Given the description of an element on the screen output the (x, y) to click on. 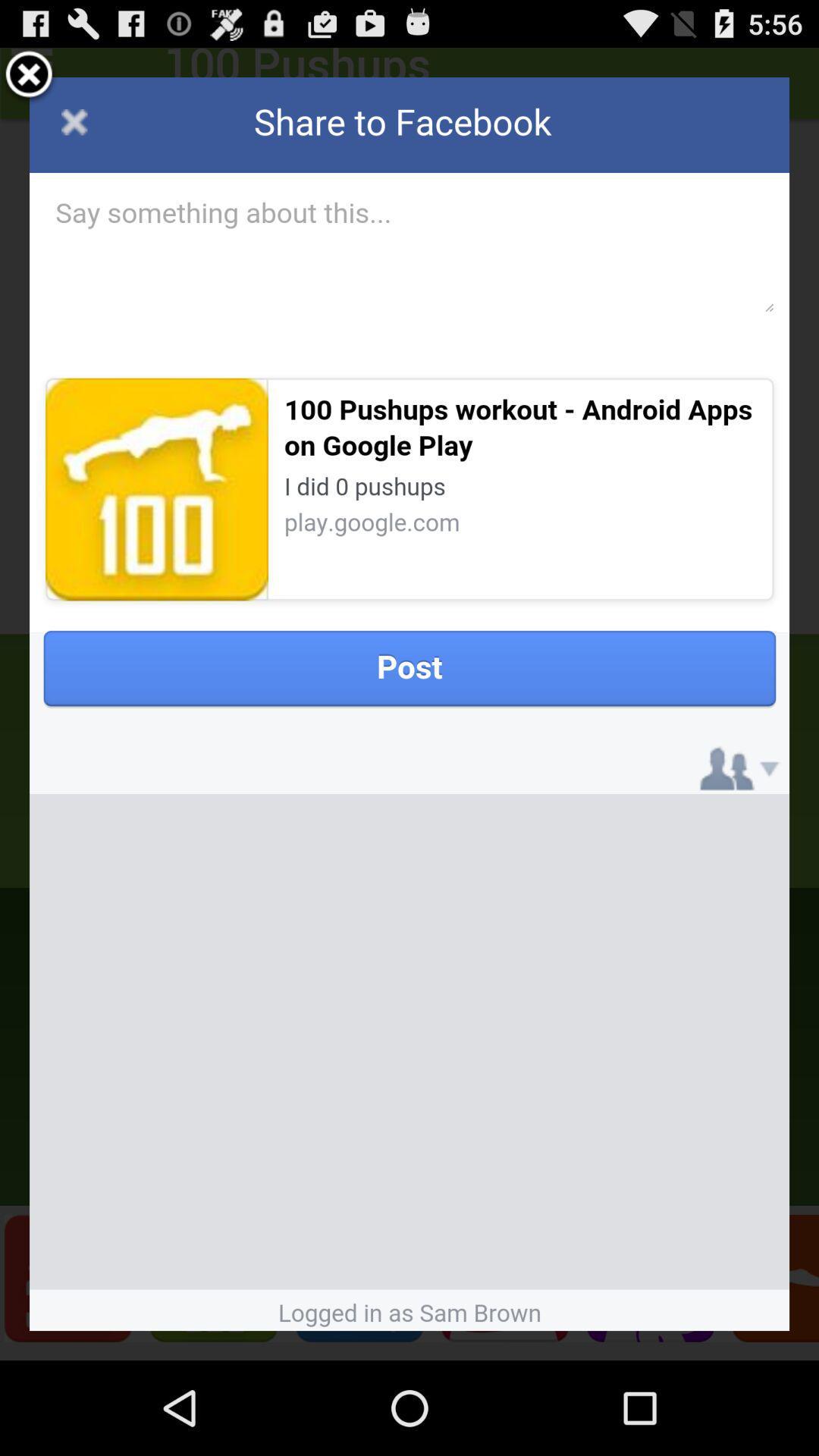
post in my picture (409, 703)
